Given the description of an element on the screen output the (x, y) to click on. 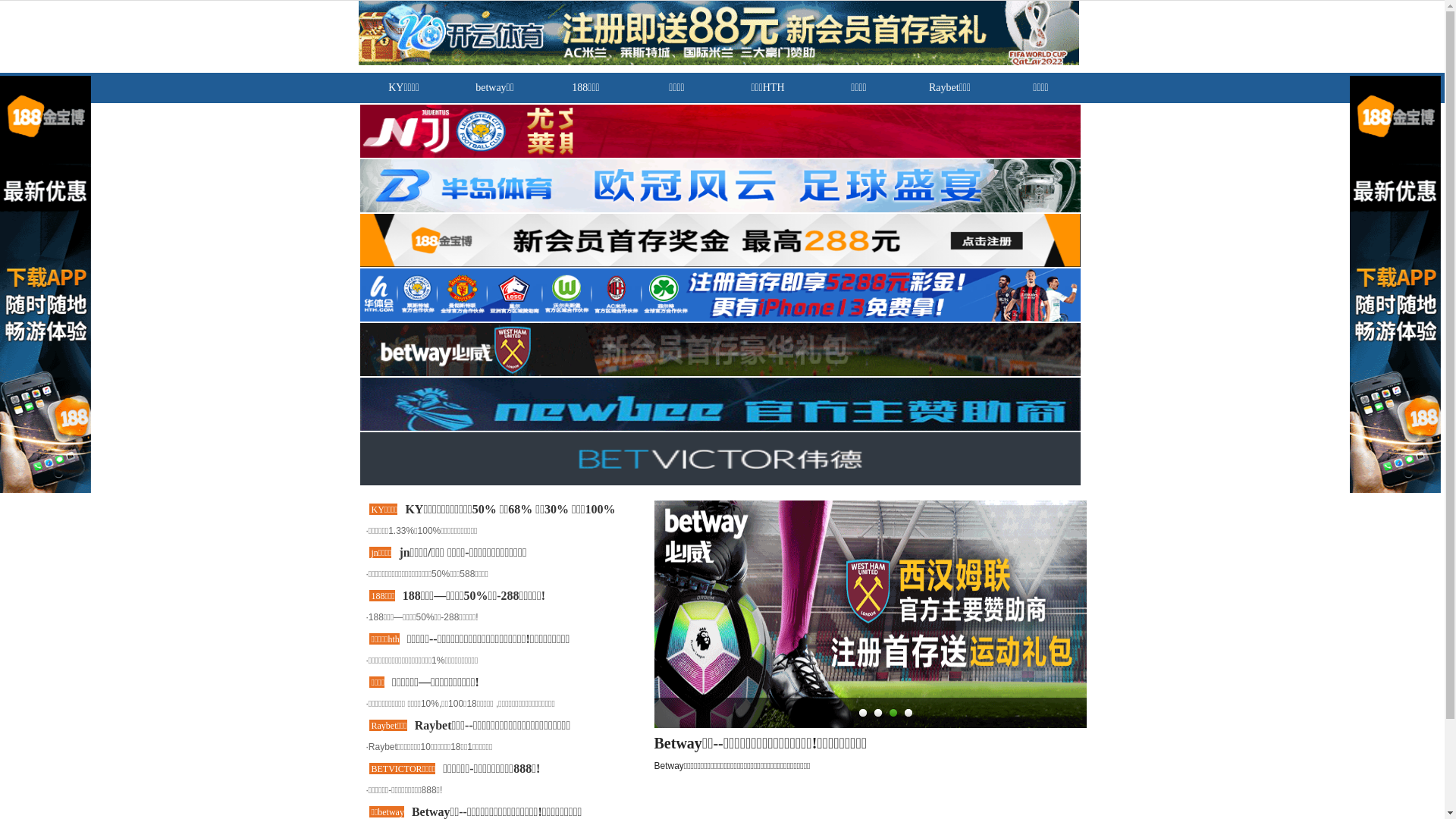
kok880 Element type: text (68, 37)
